Given the description of an element on the screen output the (x, y) to click on. 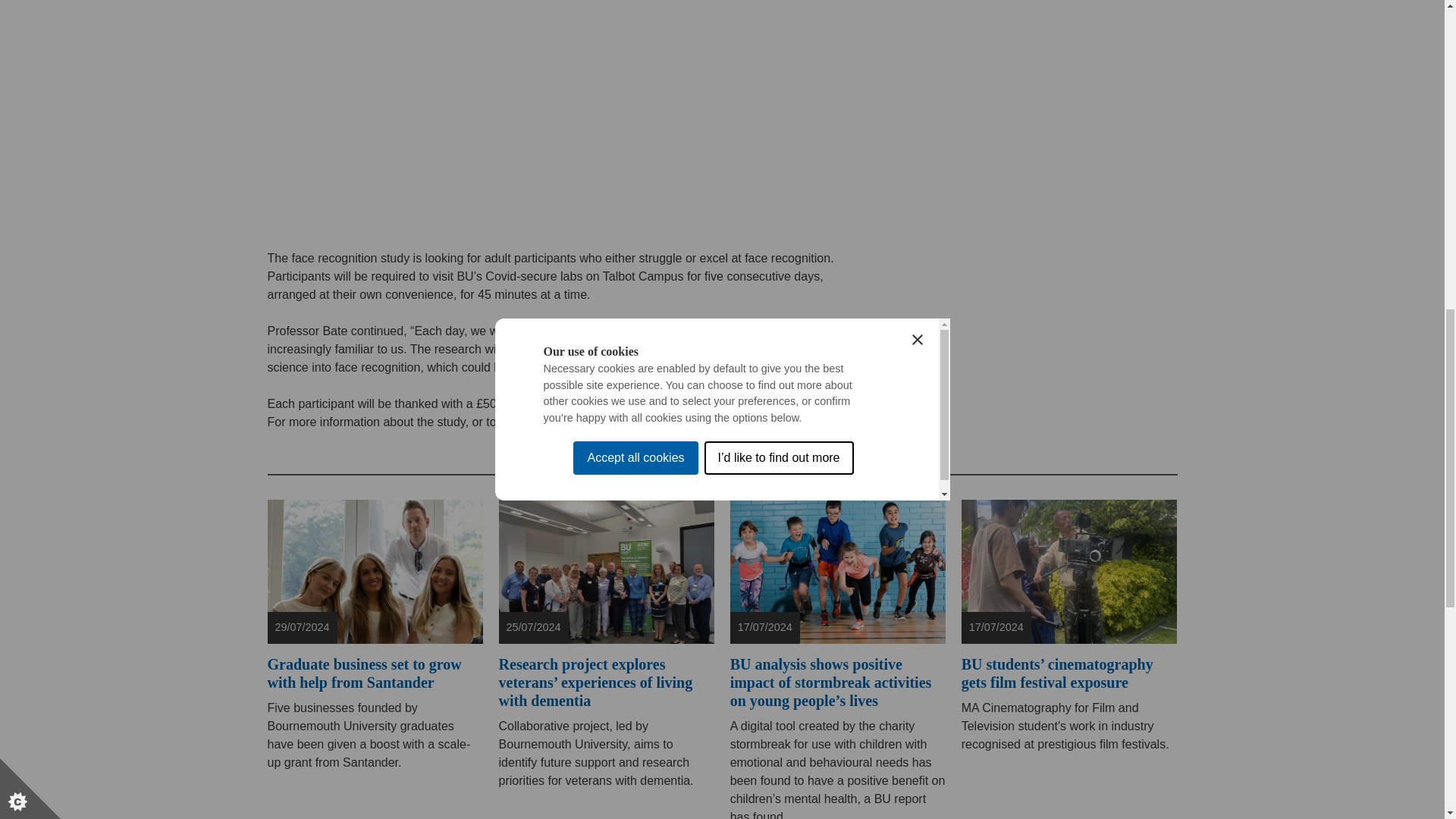
Graduate business set to grow with help from Santander  (374, 571)
